Given the description of an element on the screen output the (x, y) to click on. 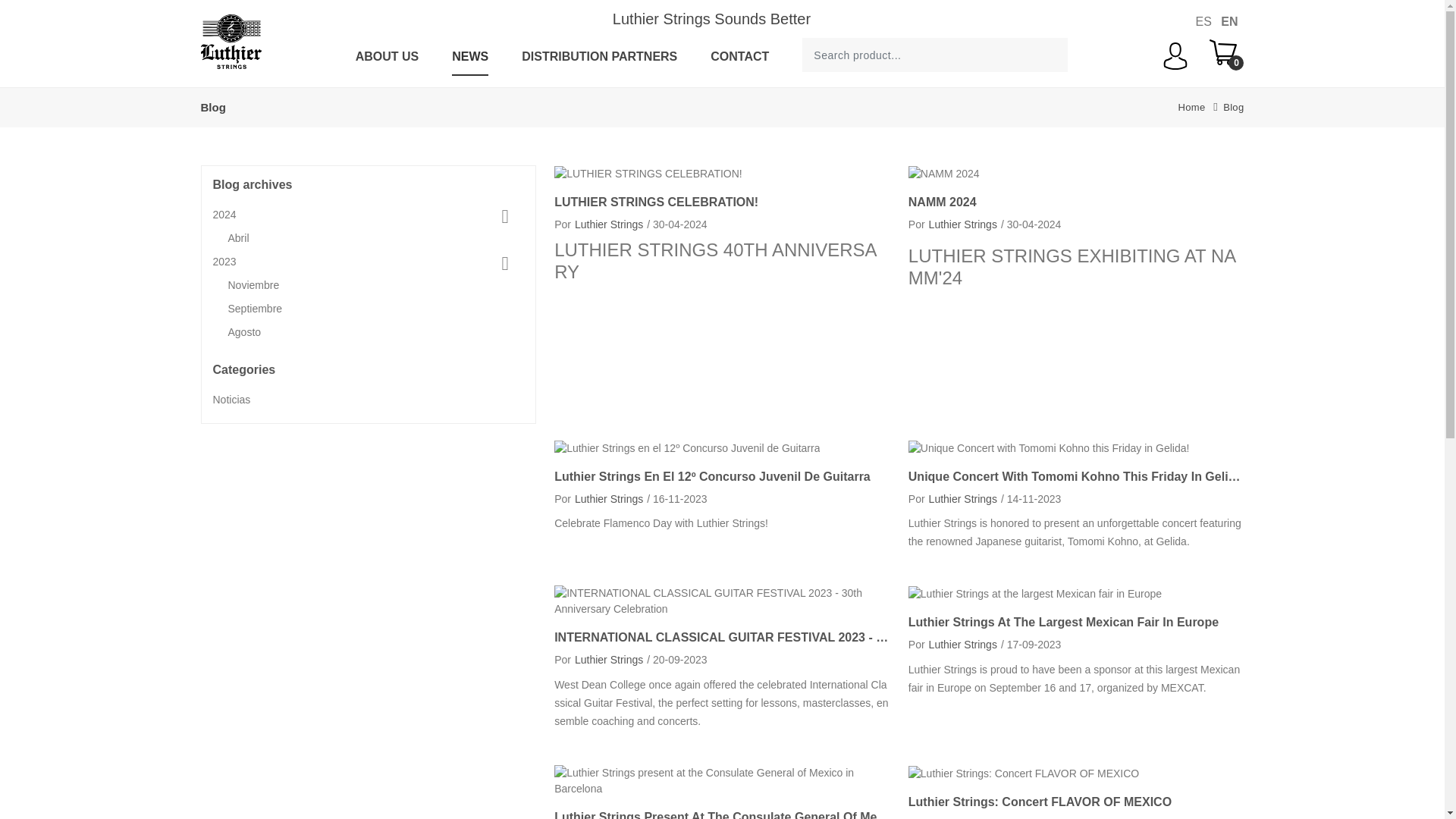
0 (1226, 54)
Blog (1233, 107)
Home (1191, 107)
DISTRIBUTION PARTNERS (599, 56)
CONTACT (739, 56)
ES (1203, 21)
LUTHIER STRINGS CELEBRATION! (721, 202)
ABOUT US (387, 56)
NEWS (469, 56)
EN (1229, 21)
